Given the description of an element on the screen output the (x, y) to click on. 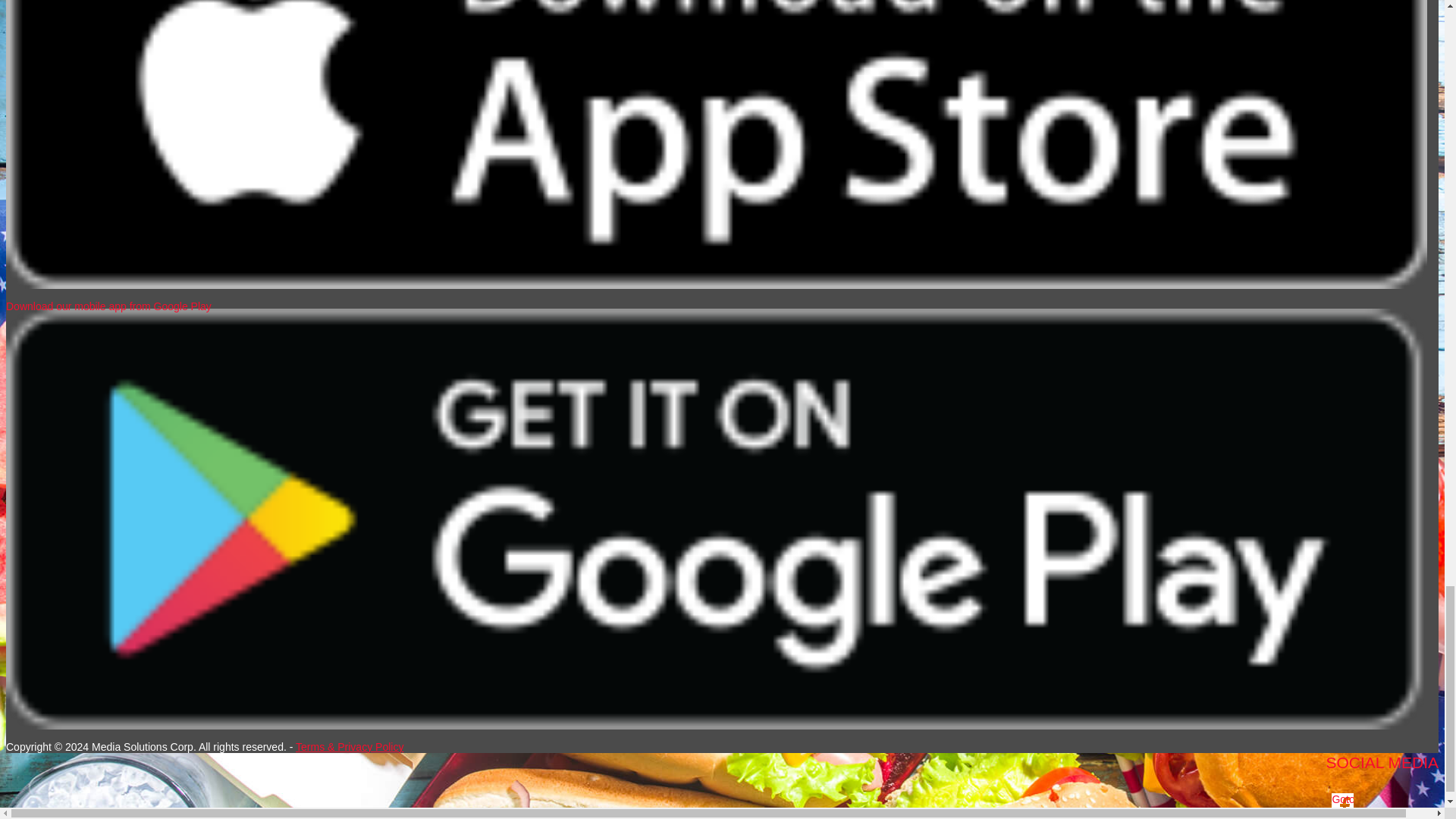
Goto to our Facebook page (1343, 803)
